Given the description of an element on the screen output the (x, y) to click on. 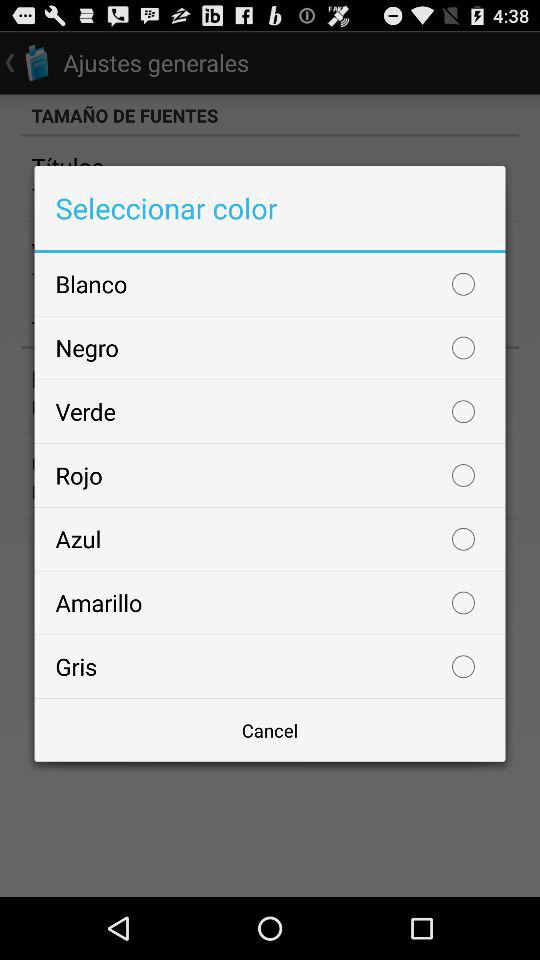
turn off cancel button (269, 729)
